Given the description of an element on the screen output the (x, y) to click on. 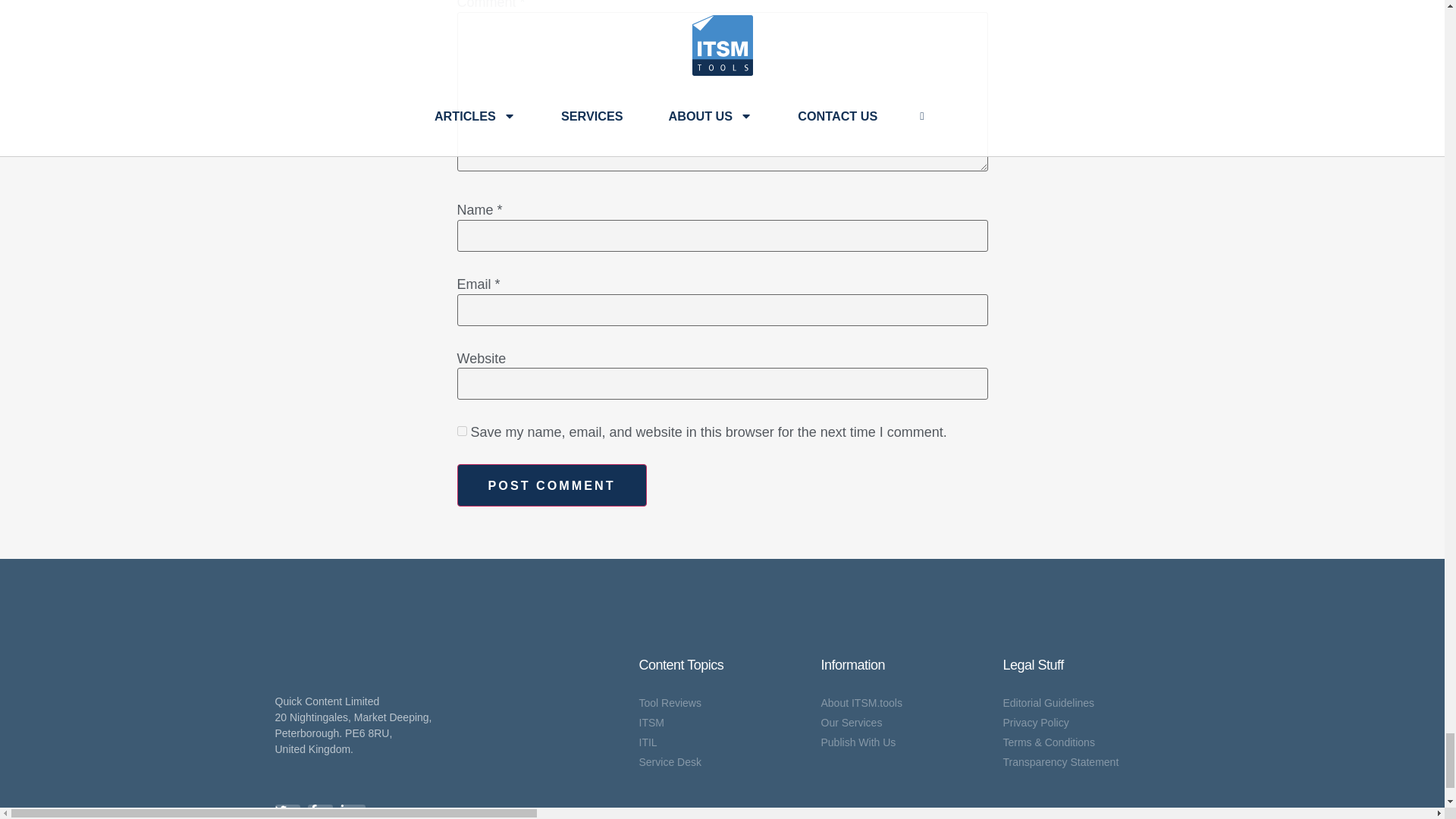
Post Comment (551, 485)
yes (461, 430)
